Given the description of an element on the screen output the (x, y) to click on. 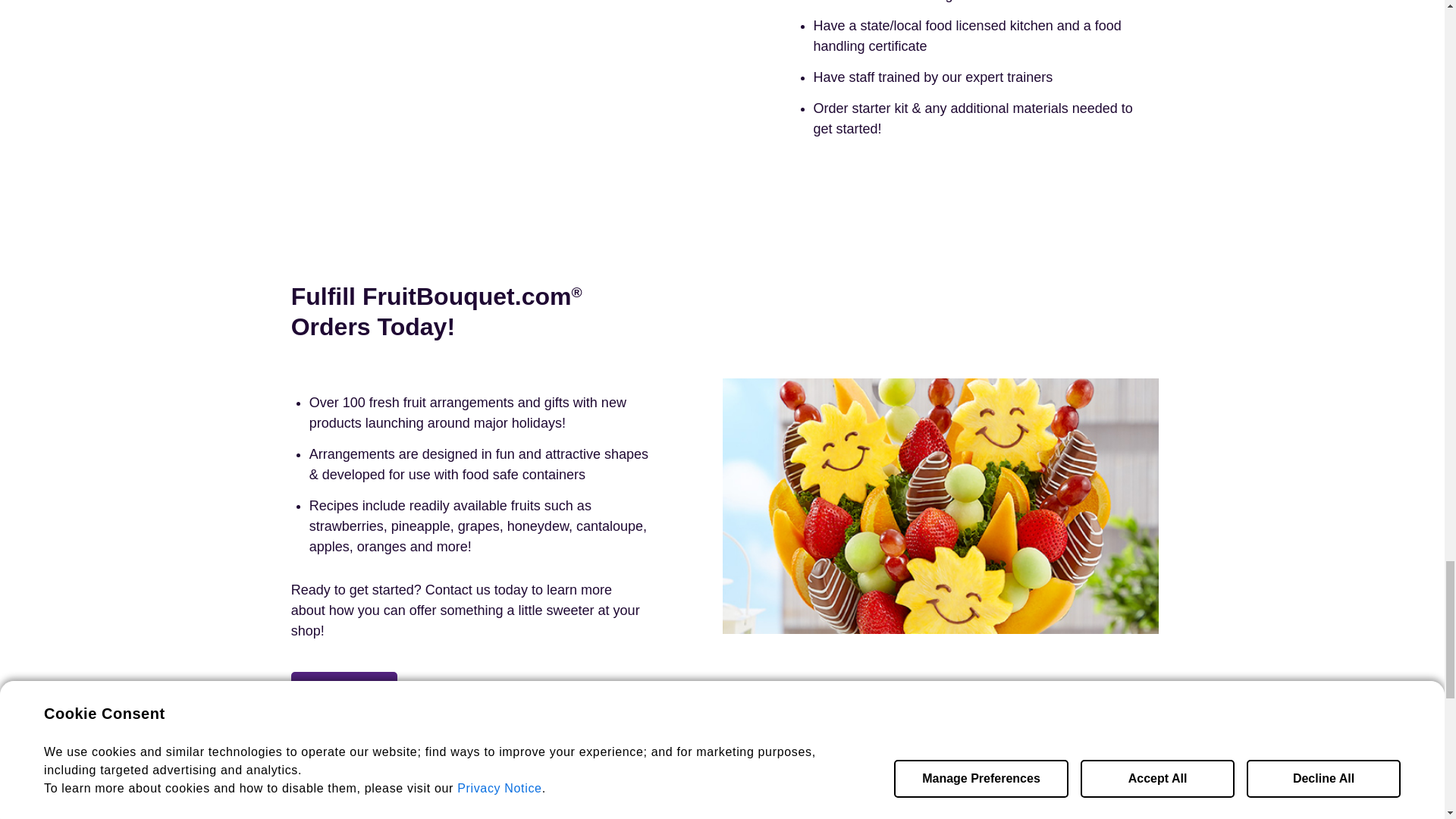
video-player (499, 80)
